Given the description of an element on the screen output the (x, y) to click on. 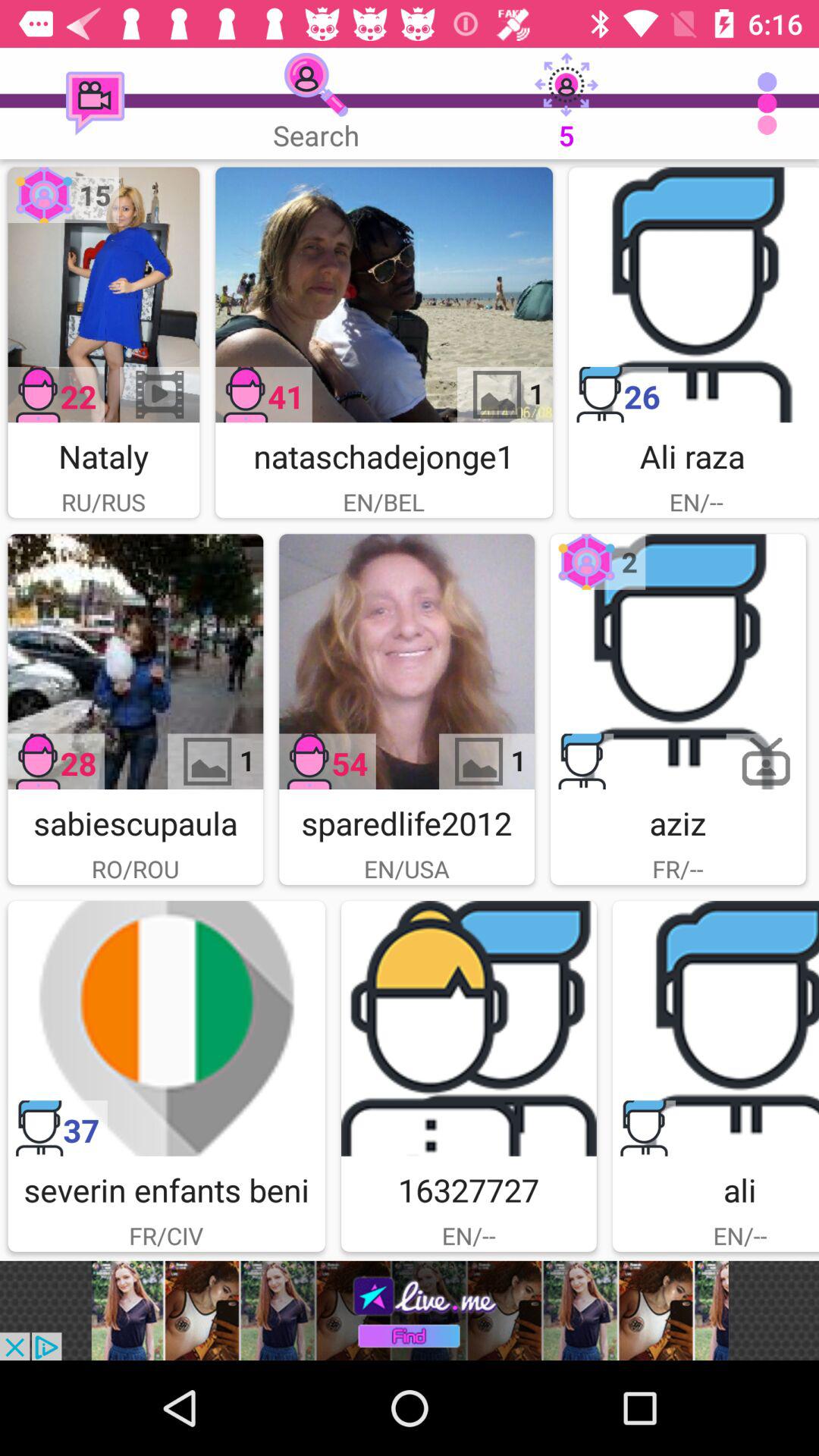
go to image (103, 294)
